Given the description of an element on the screen output the (x, y) to click on. 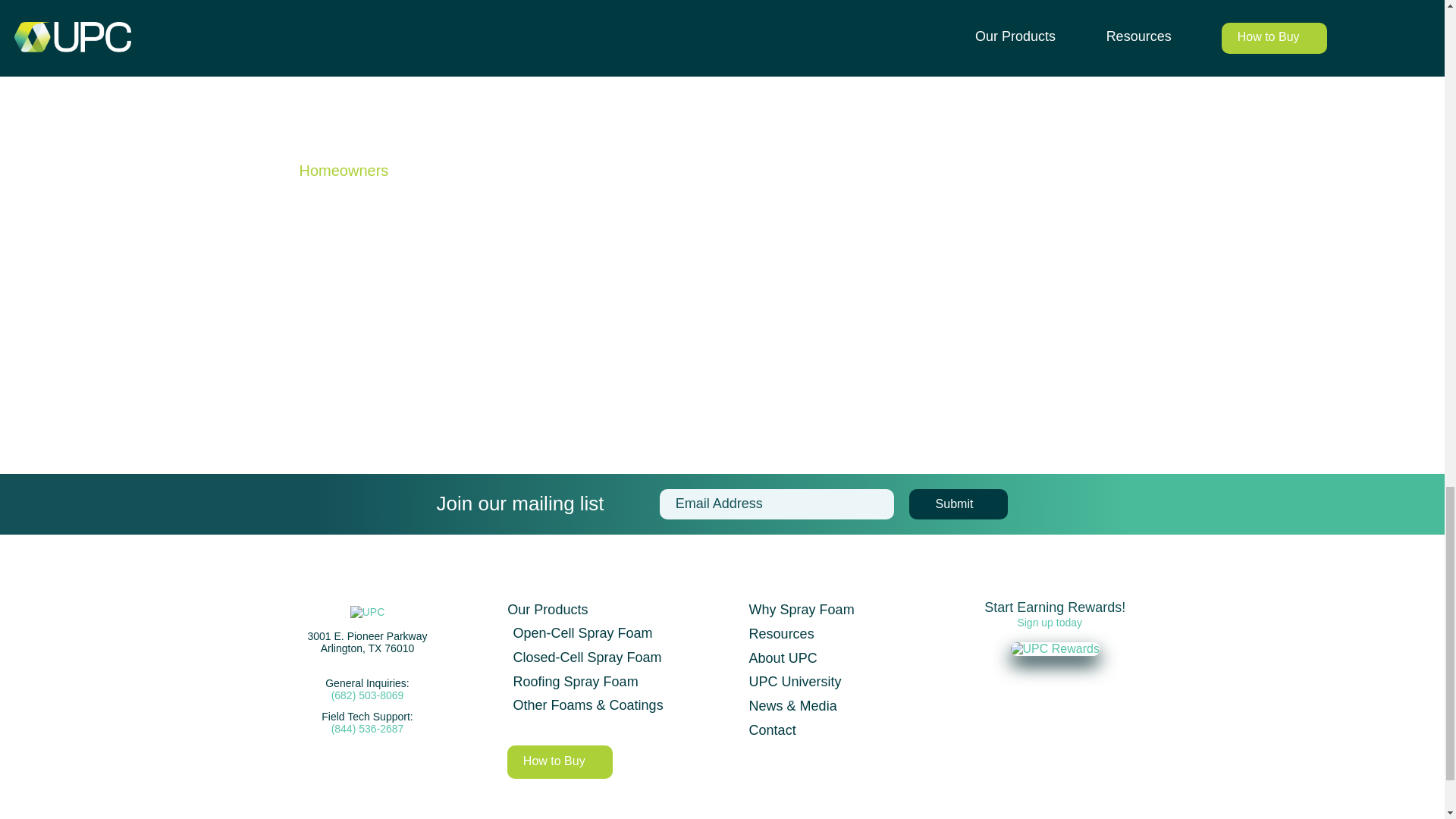
Submit (957, 504)
